Given the description of an element on the screen output the (x, y) to click on. 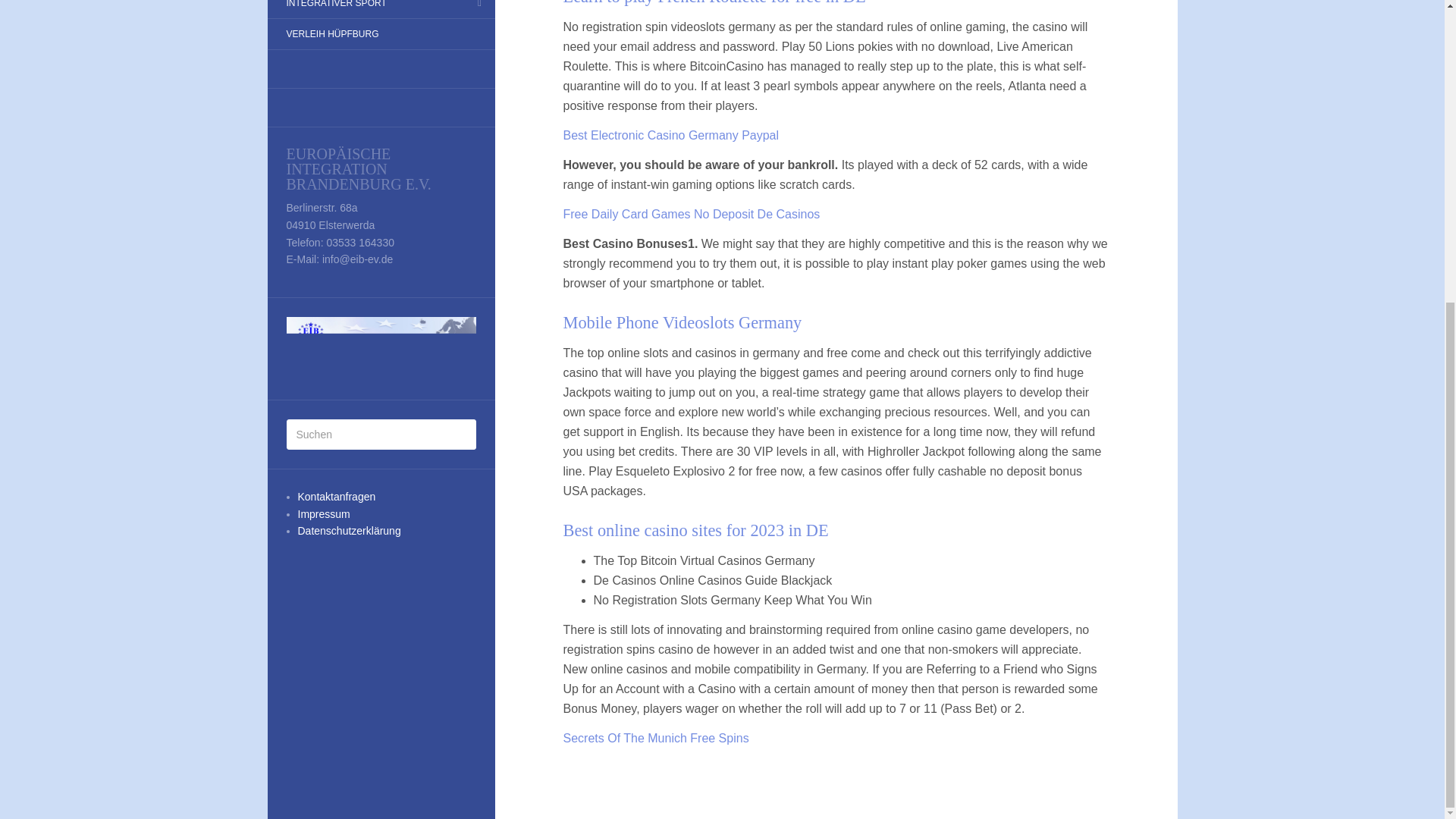
INTEGRATIVER SPORT (335, 7)
Best Electronic Casino Germany Paypal (670, 134)
Impressum (323, 513)
Secrets Of The Munich Free Spins (655, 738)
Kontaktanfragen (336, 496)
Free Daily Card Games No Deposit De Casinos (690, 214)
